Given the description of an element on the screen output the (x, y) to click on. 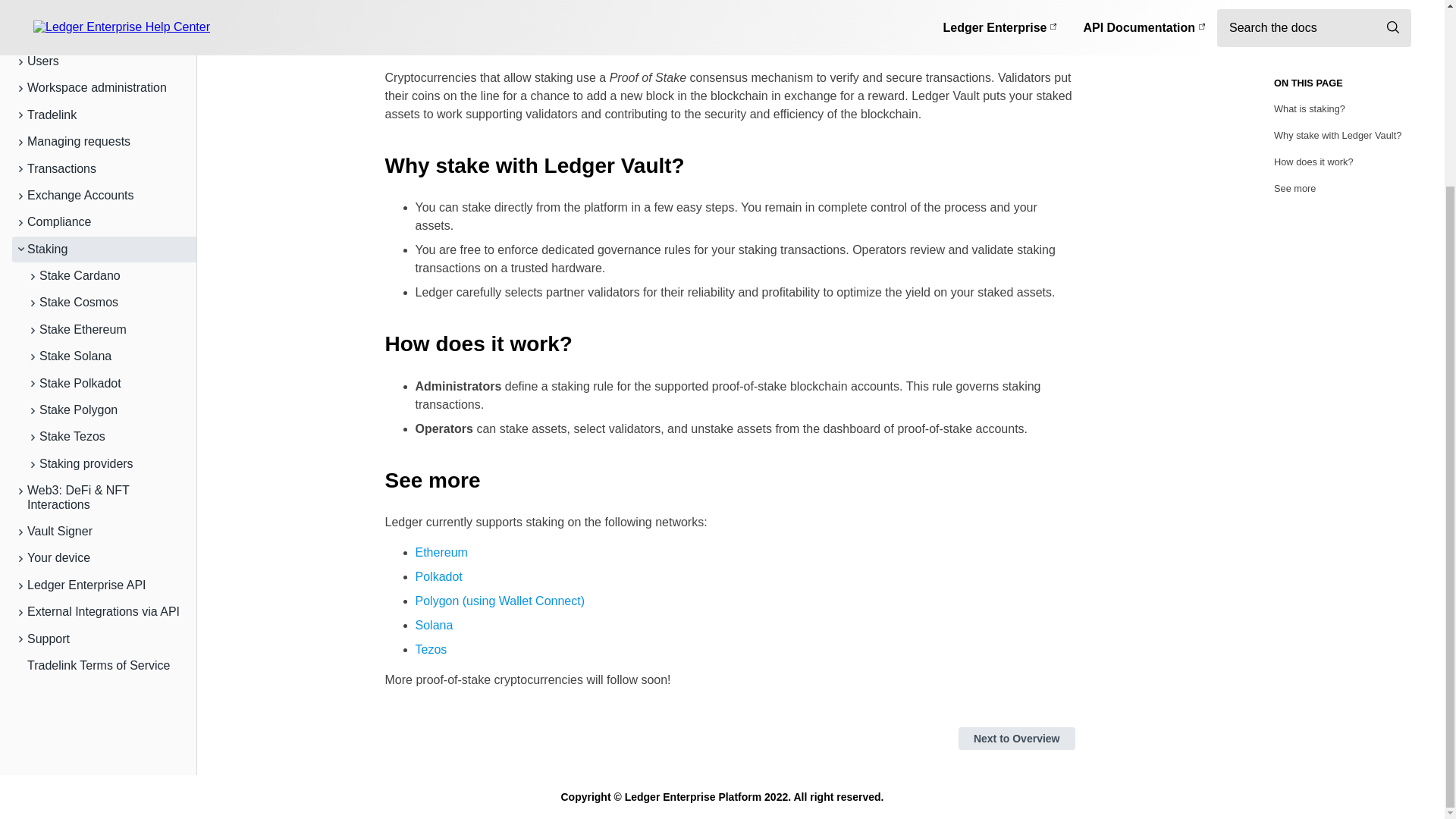
Next to Overview (1016, 738)
Exchange Accounts (98, 63)
Transactions (98, 36)
Ledger Enterprise API (98, 453)
Polkadot (438, 576)
Staking (98, 118)
Solana (433, 625)
Tradelink Terms of Service (98, 534)
Compliance (98, 90)
Ethereum (440, 552)
